Given the description of an element on the screen output the (x, y) to click on. 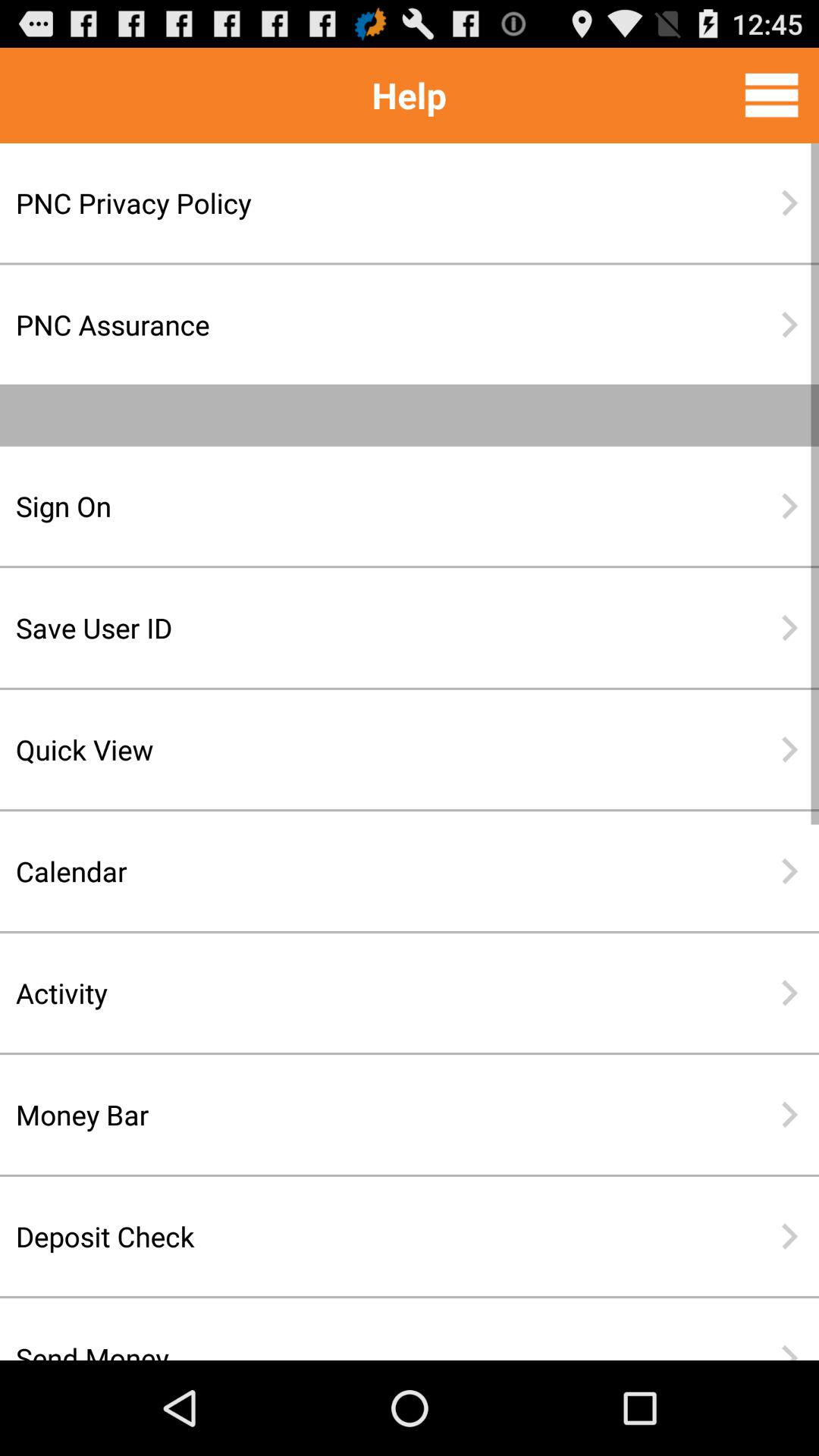
click the item to the right of the deposit check (789, 1236)
